Given the description of an element on the screen output the (x, y) to click on. 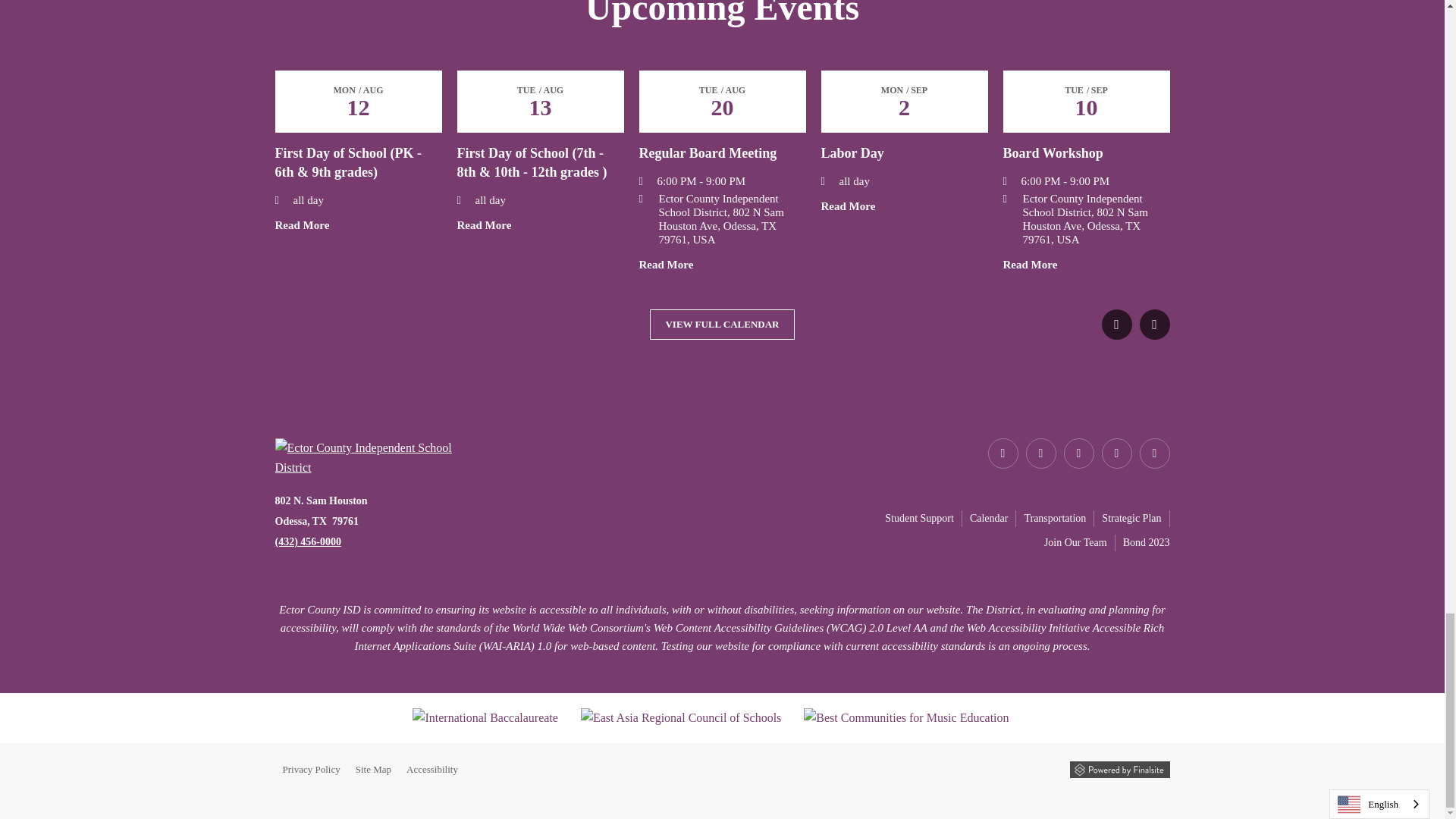
Powered by Finalsite opens in a new window (1118, 768)
